Given the description of an element on the screen output the (x, y) to click on. 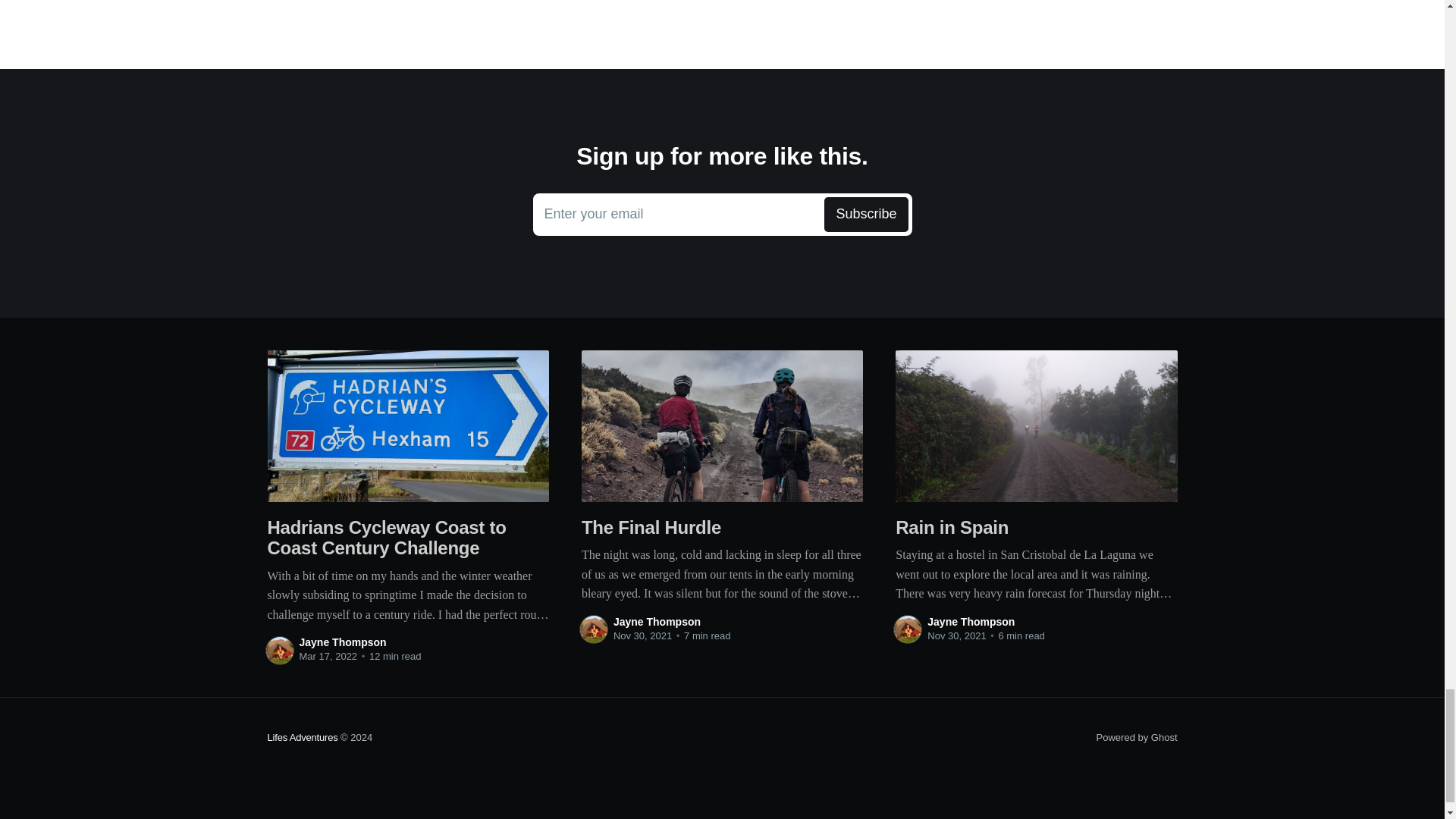
Lifes Adventures (301, 737)
Jayne Thompson (341, 642)
Jayne Thompson (970, 621)
Jayne Thompson (656, 621)
Powered by Ghost (1136, 737)
